Given the description of an element on the screen output the (x, y) to click on. 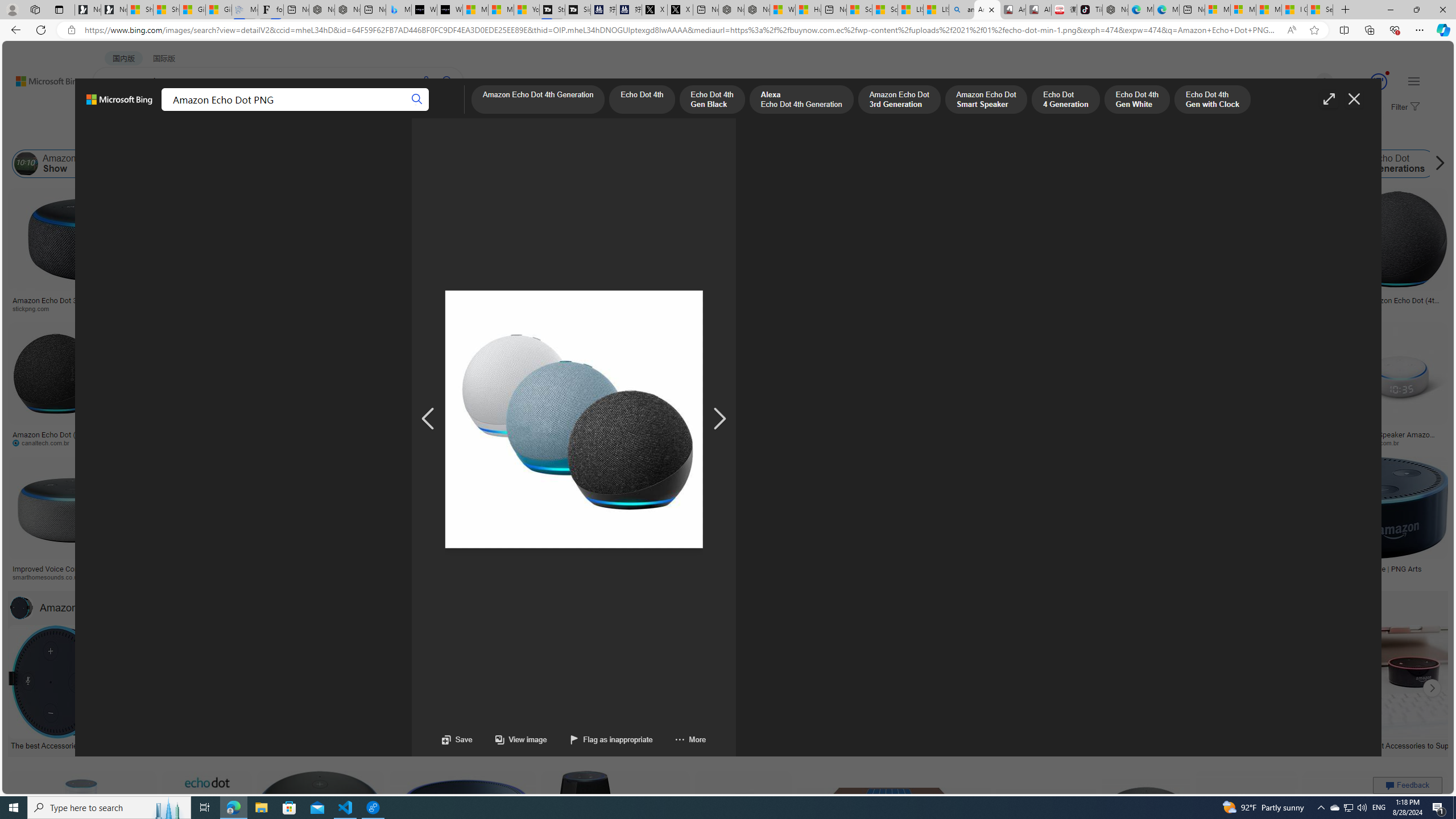
Amazon Echo Spot (1130, 163)
Echo Dot Generations (1355, 163)
skroutz.gr (871, 576)
croma.com (503, 442)
stickpng.herokuapp.com (350, 308)
pnghq.com (1203, 576)
